Given the description of an element on the screen output the (x, y) to click on. 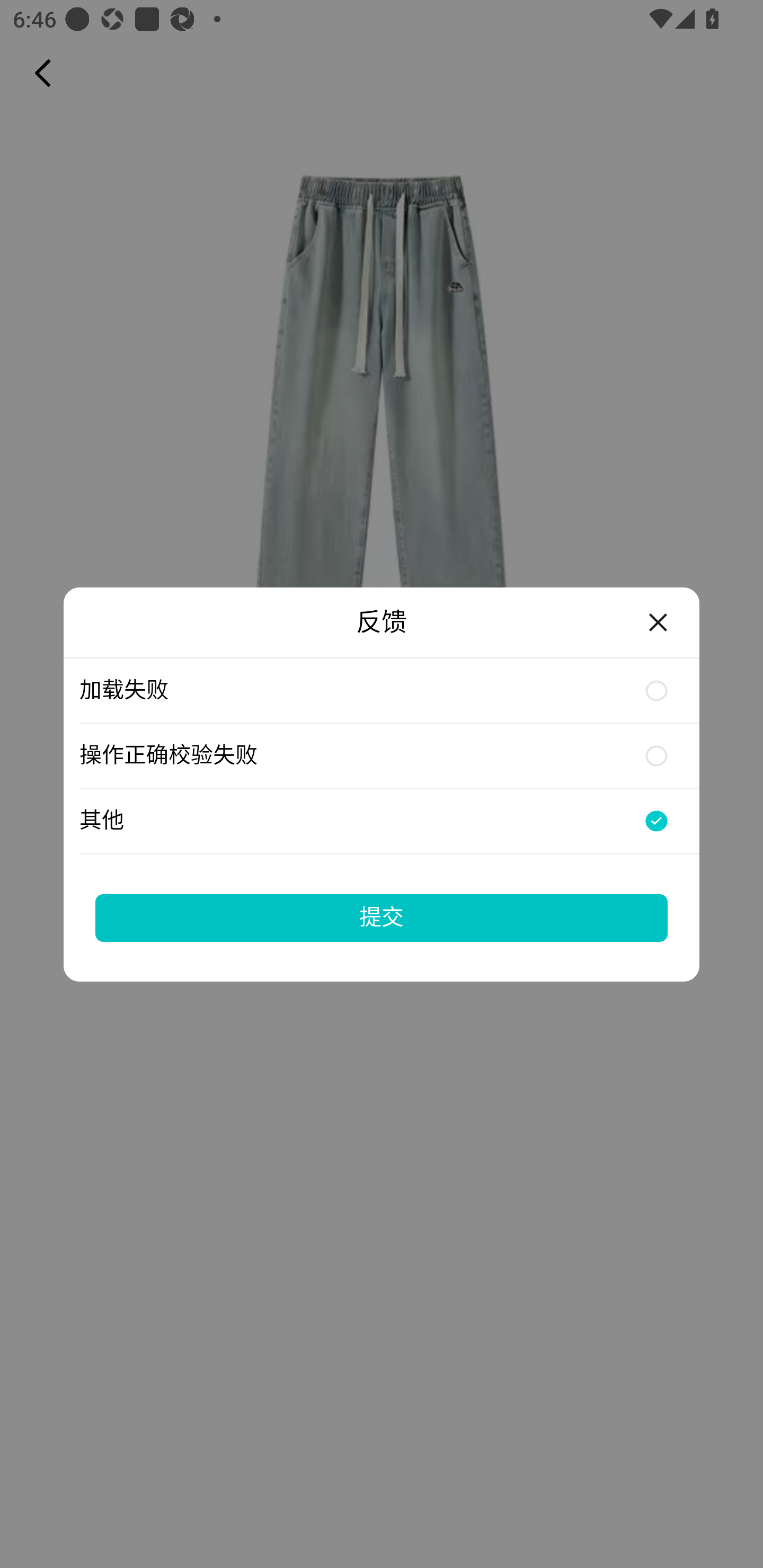
提交 (381, 917)
